Given the description of an element on the screen output the (x, y) to click on. 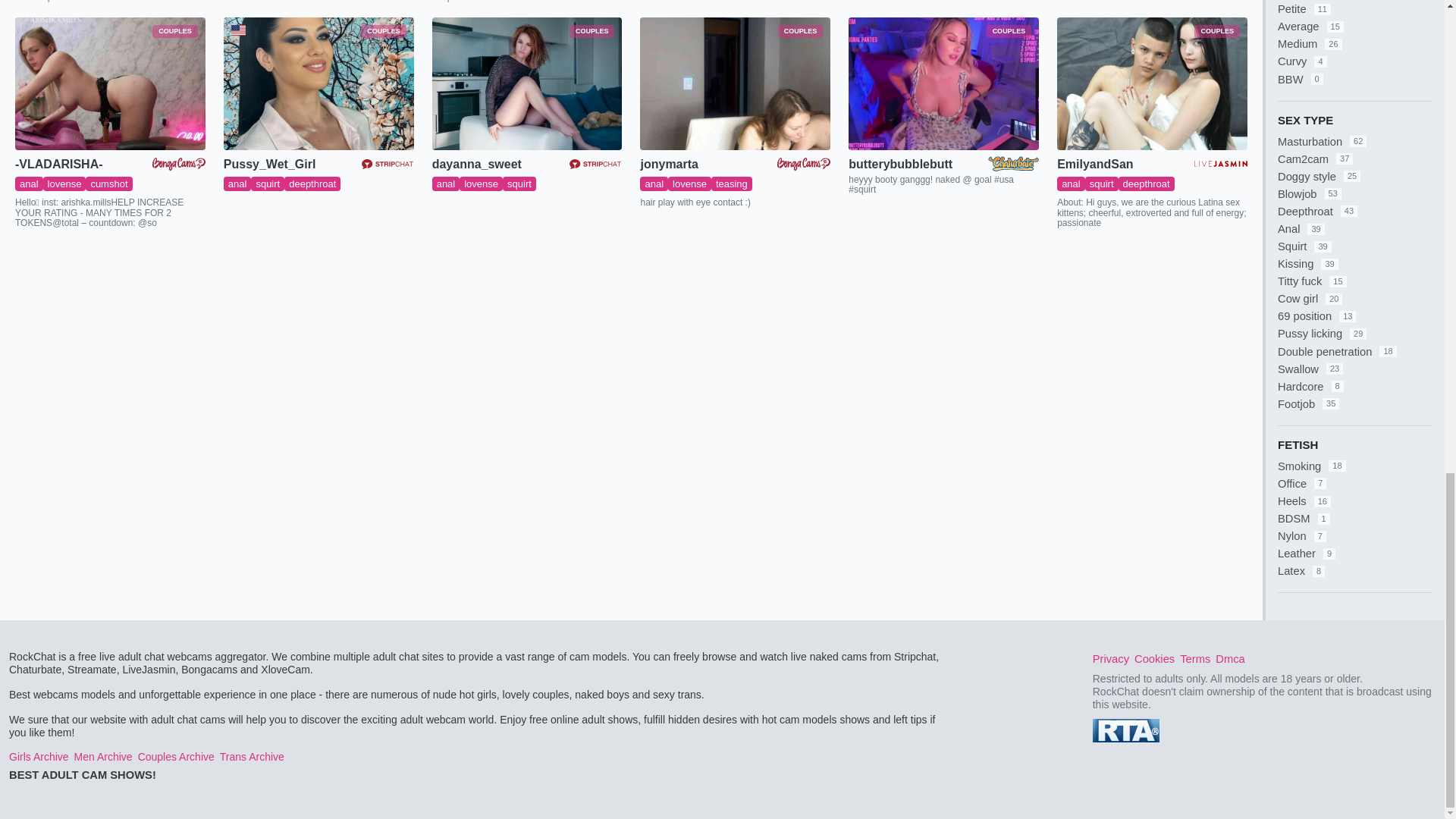
-VLADARISHA-Live Webcam (109, 83)
JonymartaLive Webcam (734, 83)
EmilyandSanLive Webcam (1152, 83)
ButterybubblebuttLive Webcam (943, 83)
